Given the description of an element on the screen output the (x, y) to click on. 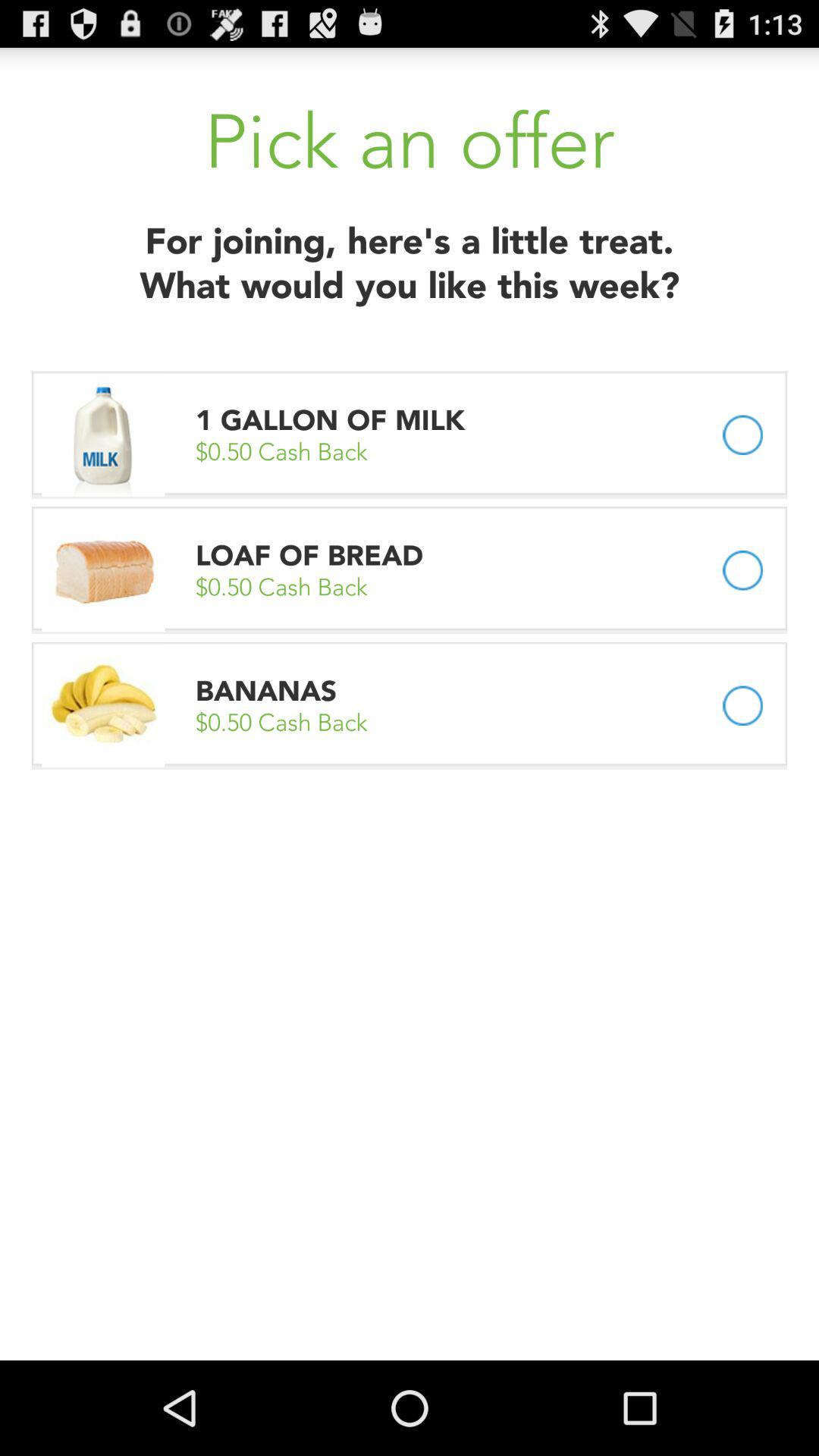
press app above 0 50 cash (334, 420)
